Given the description of an element on the screen output the (x, y) to click on. 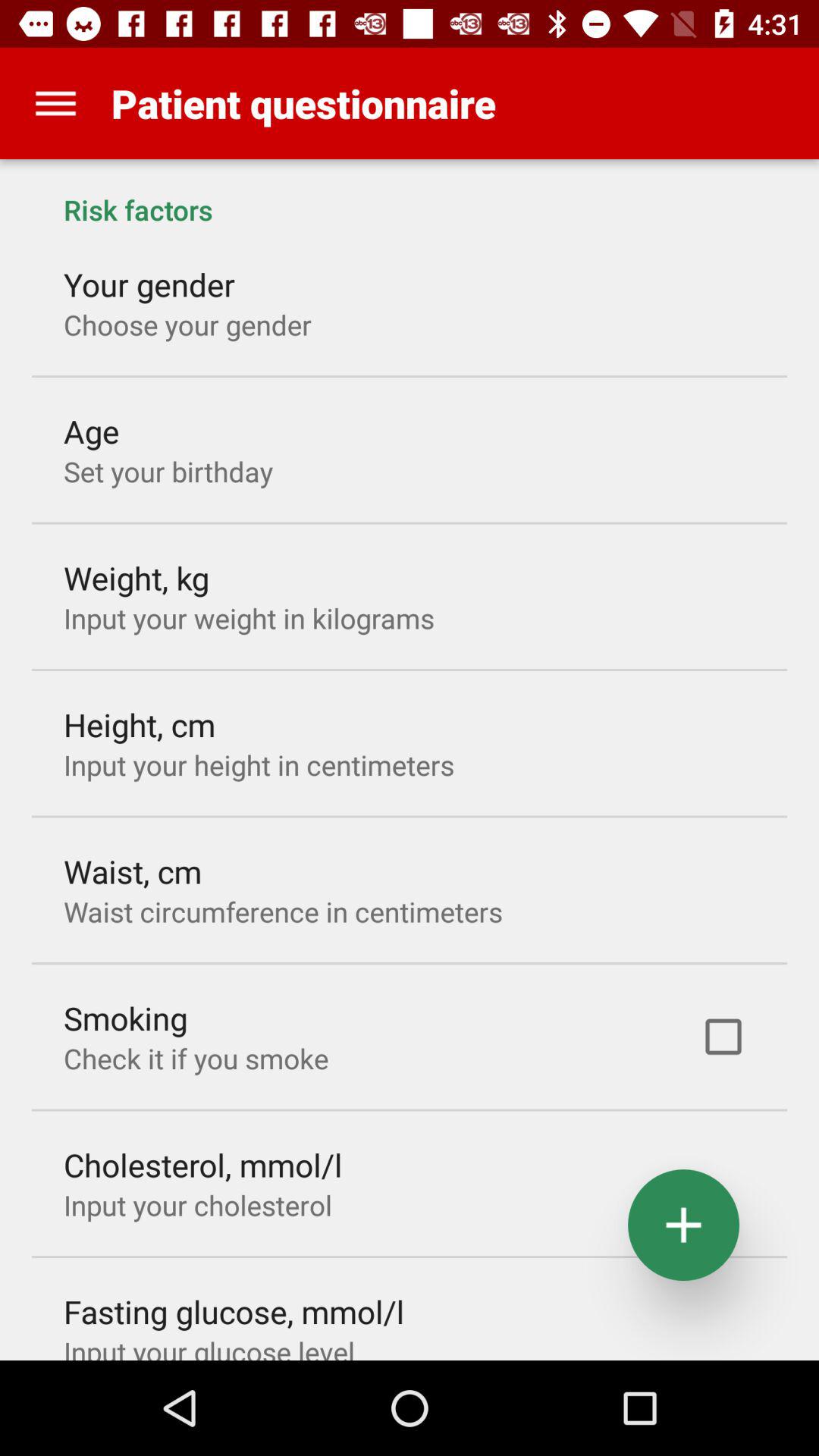
click smoking item (125, 1017)
